Given the description of an element on the screen output the (x, y) to click on. 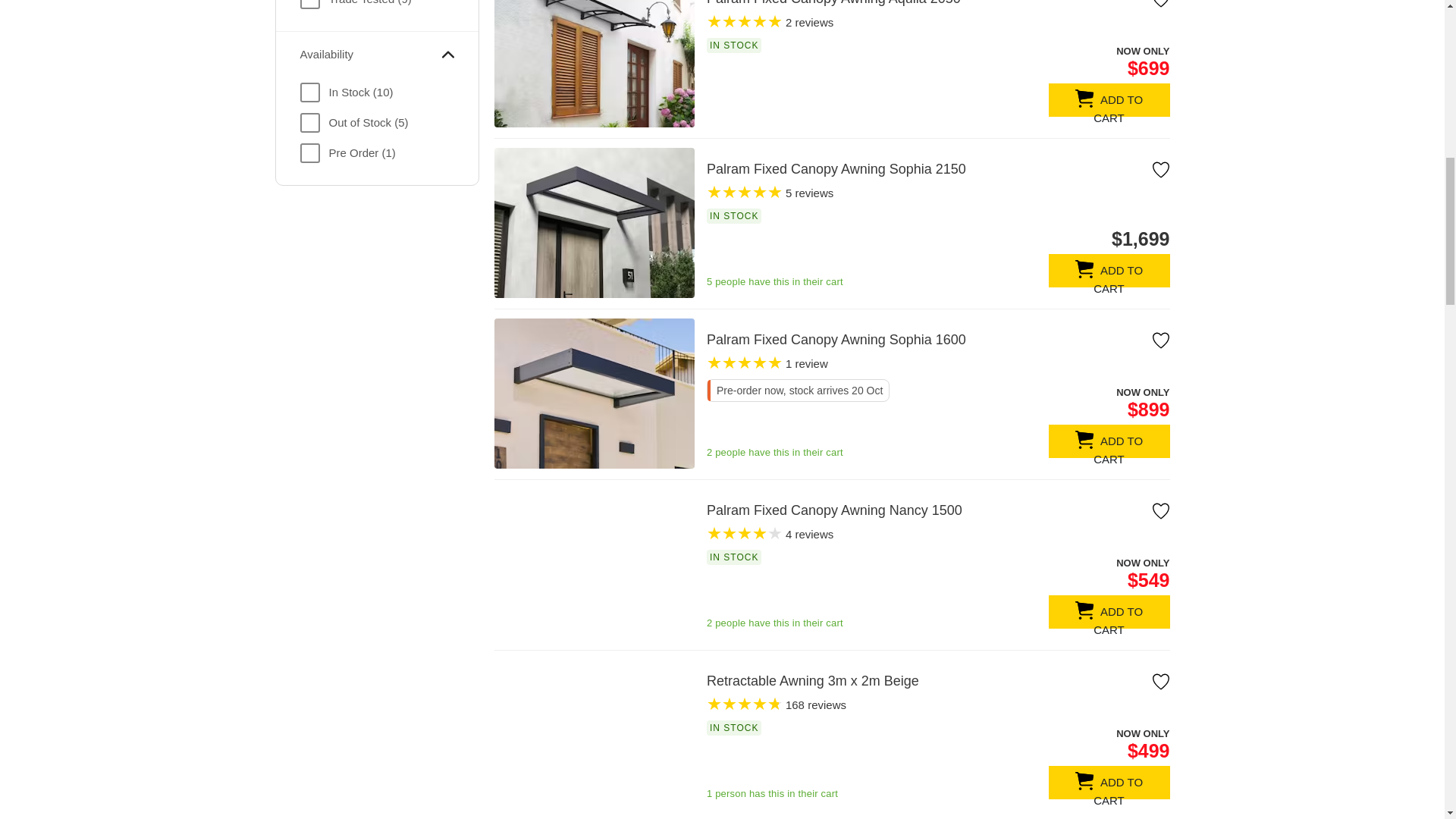
ADD TO CART (1108, 270)
ADD TO CART (1108, 100)
ADD TO CART (1108, 441)
ADD TO CART (1108, 611)
